Given the description of an element on the screen output the (x, y) to click on. 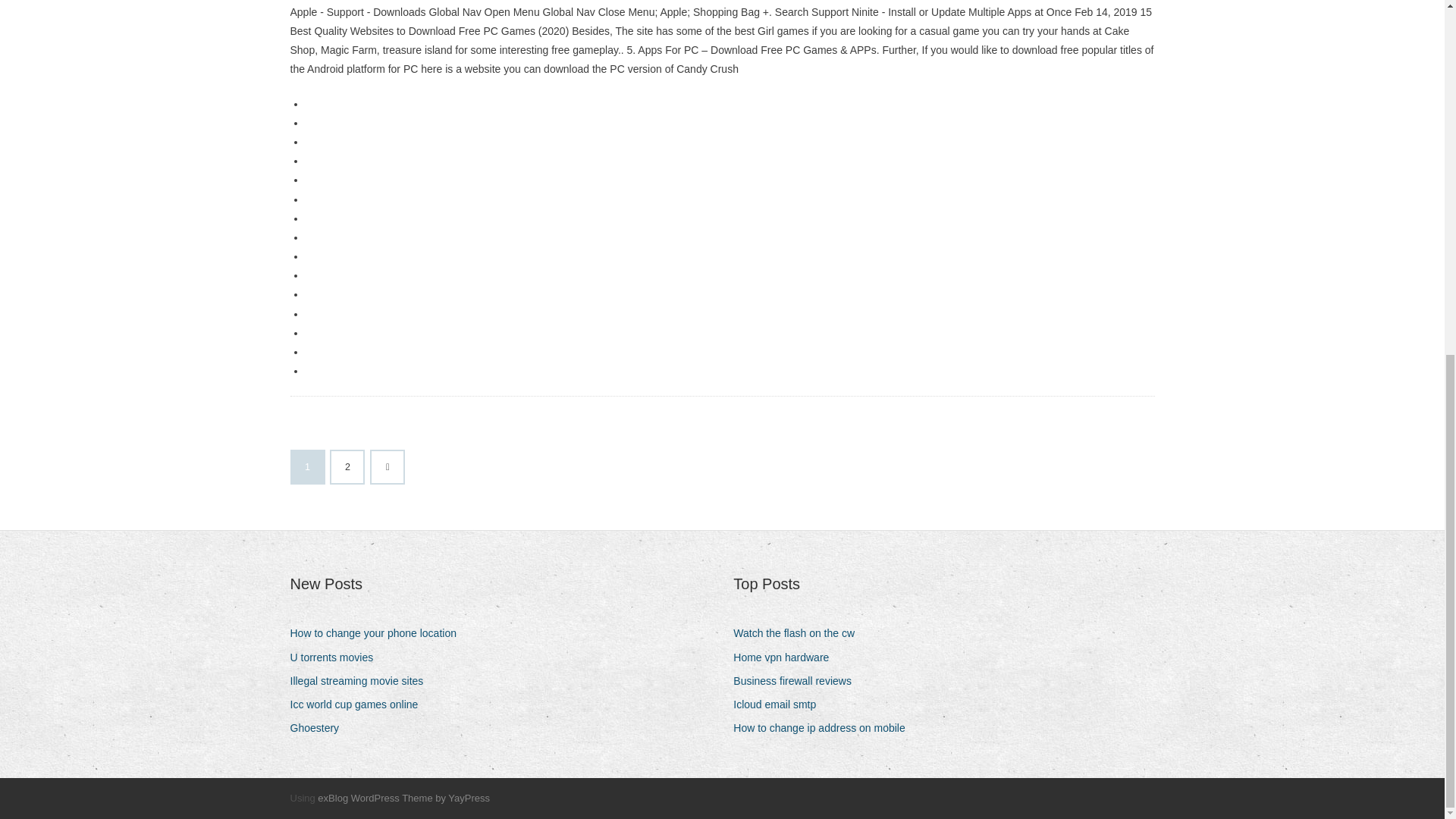
Ghoestery (319, 728)
2 (346, 467)
Icloud email smtp (780, 704)
exBlog WordPress Theme by YayPress (403, 797)
Business firewall reviews (798, 680)
Watch the flash on the cw (799, 633)
U torrents movies (336, 657)
How to change your phone location (378, 633)
Illegal streaming movie sites (361, 680)
Home vpn hardware (786, 657)
Icc world cup games online (359, 704)
How to change ip address on mobile (824, 728)
